Given the description of an element on the screen output the (x, y) to click on. 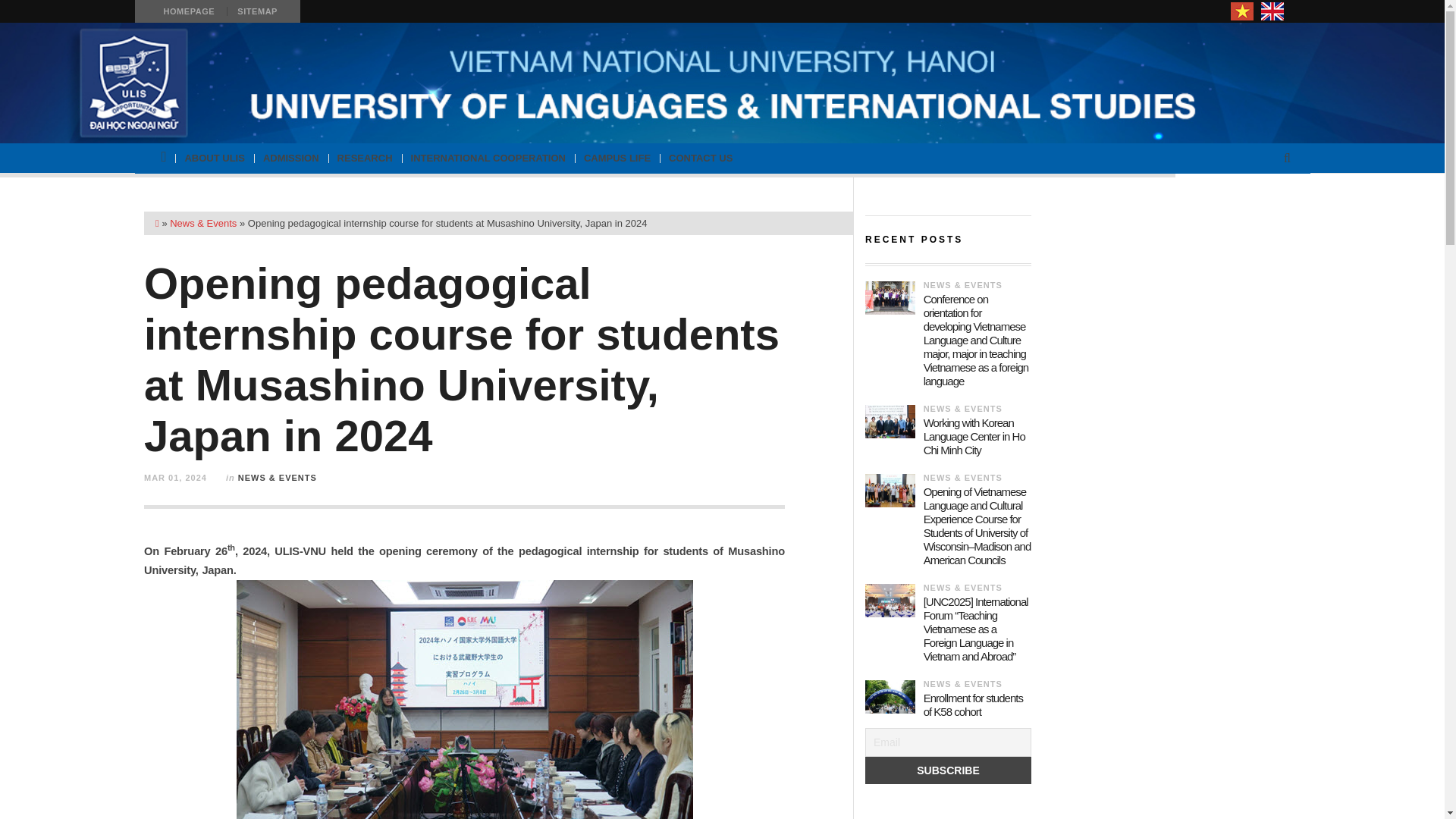
CAMPUS LIFE (617, 158)
HOMEPAGE (188, 11)
CONTACT US (700, 158)
ABOUT ULIS (213, 158)
SITEMAP (256, 11)
ADMISSION (291, 158)
RESEARCH (365, 158)
English (1272, 11)
INTERNATIONAL COOPERATION (488, 158)
Subscribe (947, 769)
